Given the description of an element on the screen output the (x, y) to click on. 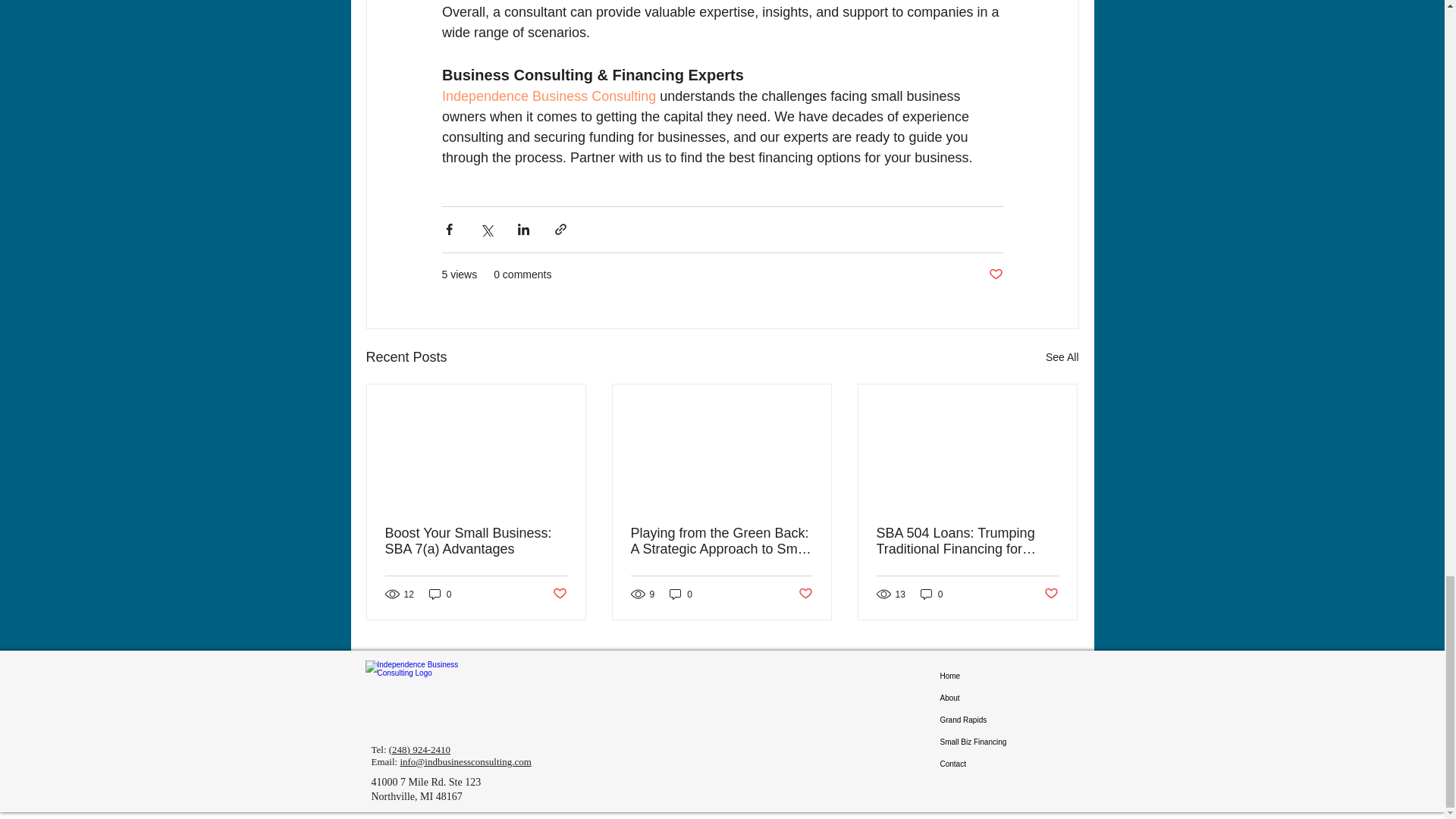
0 (931, 594)
See All (1061, 357)
Post not marked as liked (804, 593)
0 (440, 594)
0 (681, 594)
Post not marked as liked (1050, 593)
Post not marked as liked (558, 593)
Independence Business Consulting (548, 96)
